Given the description of an element on the screen output the (x, y) to click on. 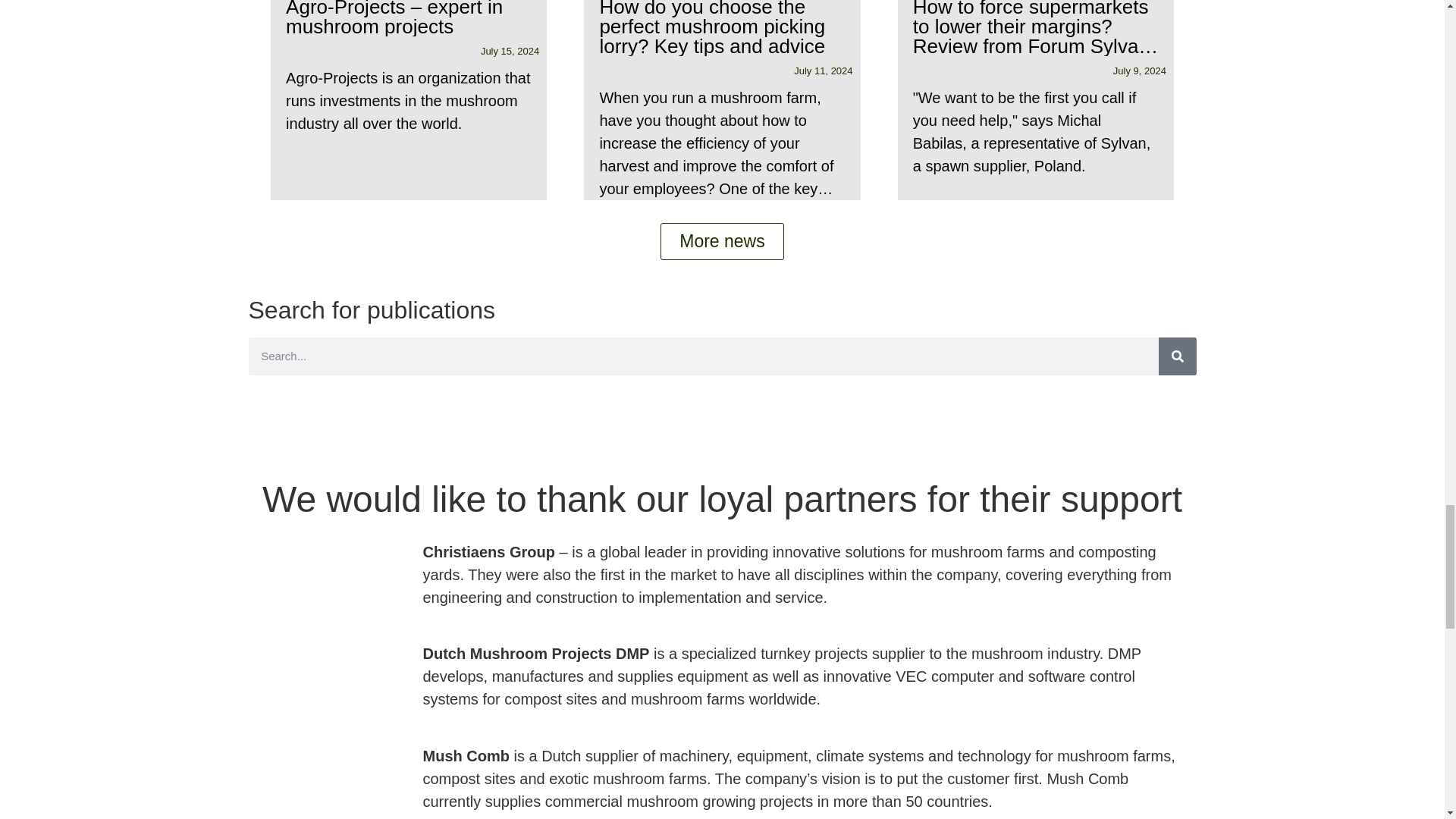
More news (722, 241)
